Given the description of an element on the screen output the (x, y) to click on. 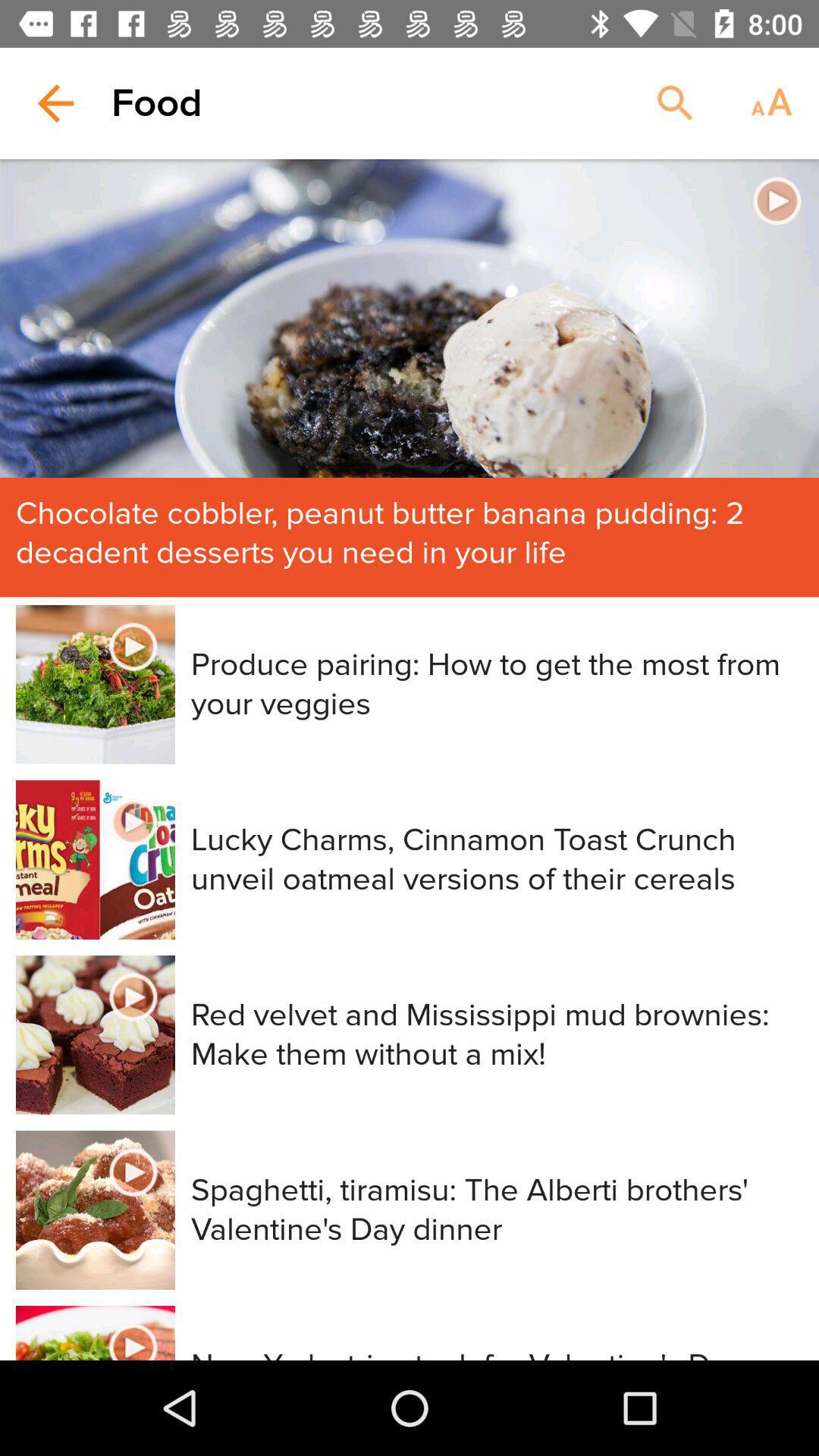
click the item to the right of food (675, 103)
